Given the description of an element on the screen output the (x, y) to click on. 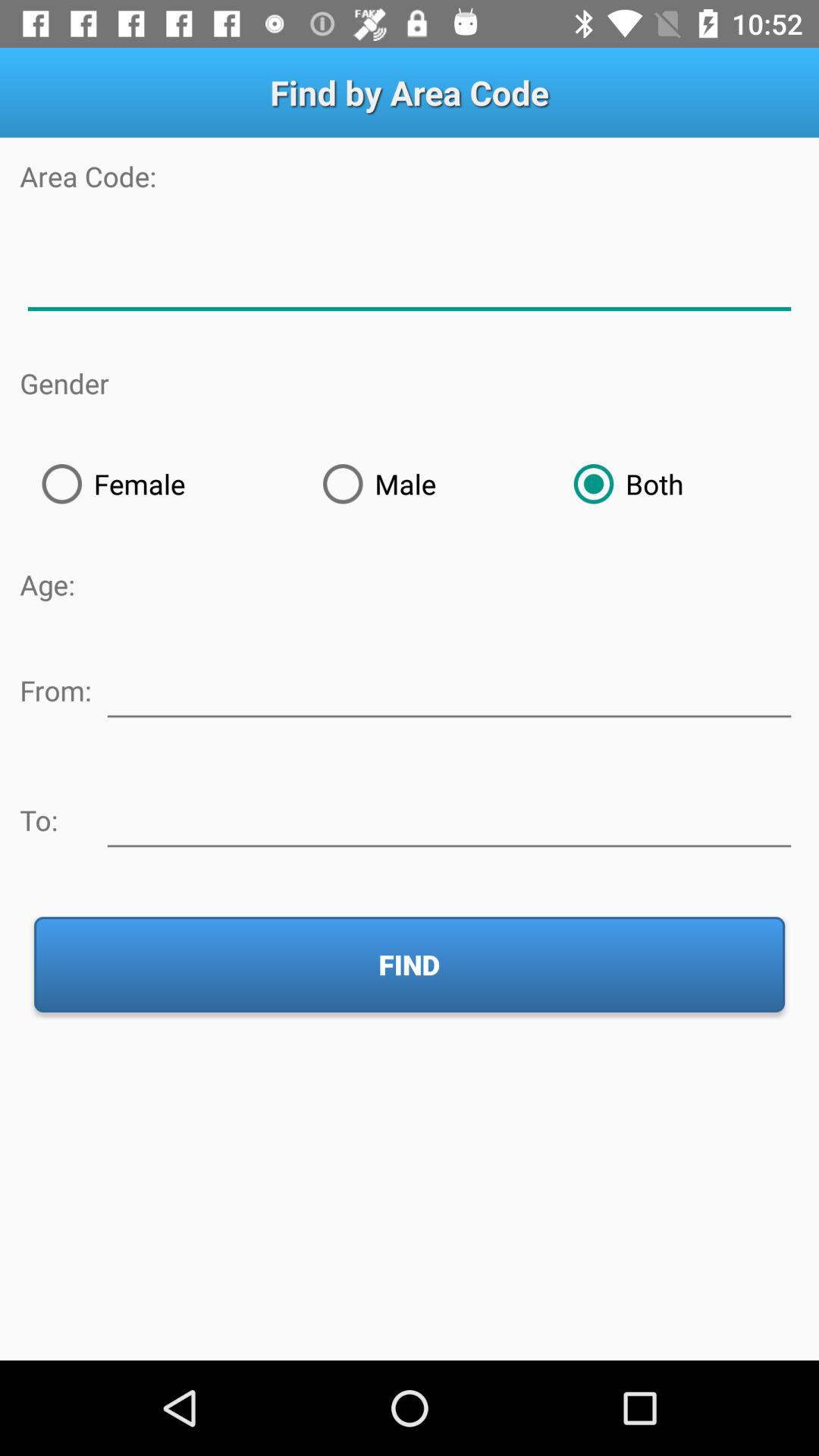
choose the radio button next to male icon (674, 483)
